Given the description of an element on the screen output the (x, y) to click on. 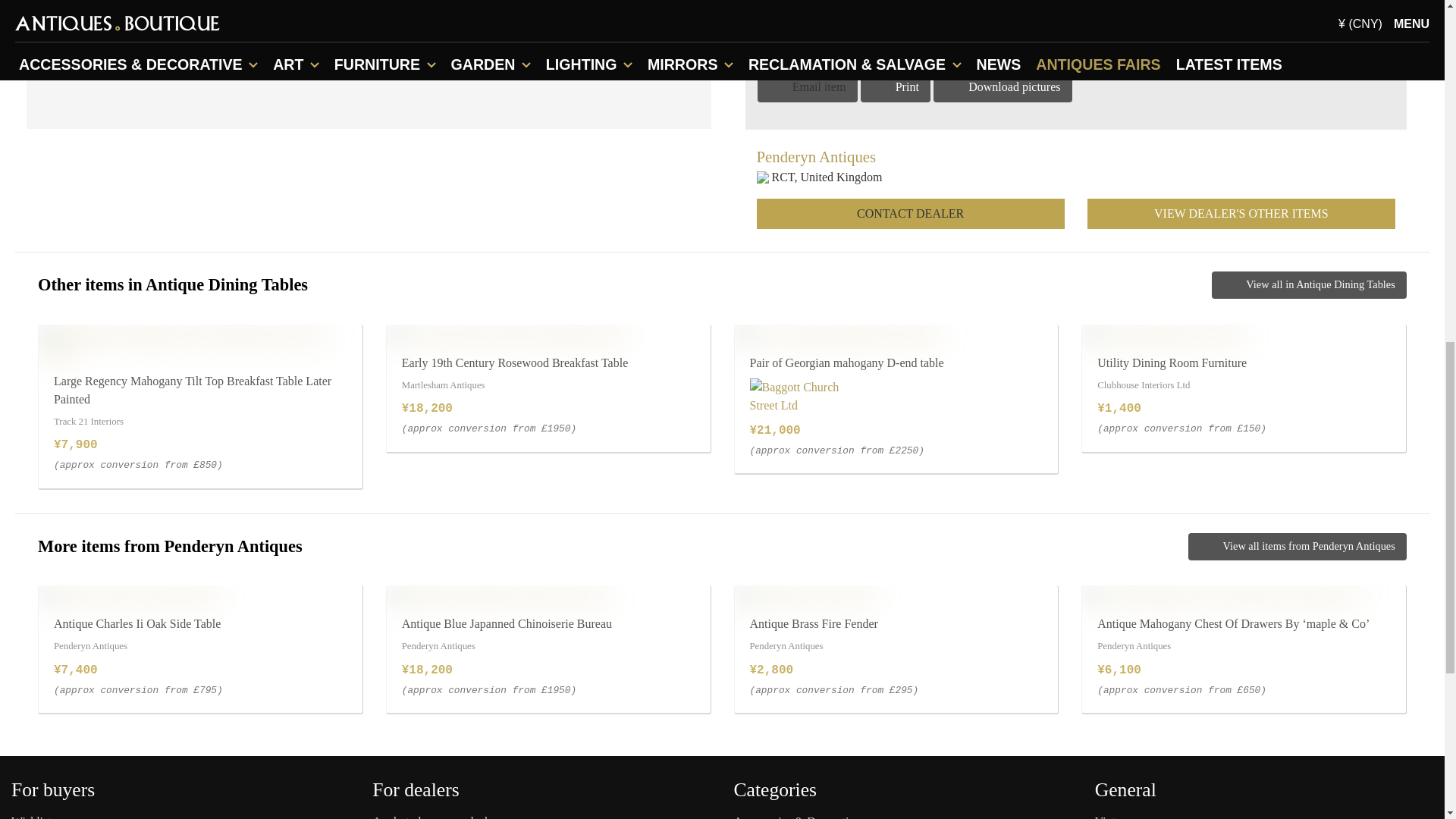
Antique Oak Pig Bench (1145, 616)
Antique Side Table With Inlaid Top (825, 616)
Antique Pitch Pine Railway Station Bench (496, 616)
18th Century Welsh Oak Two Stage Bureau (151, 616)
